Given the description of an element on the screen output the (x, y) to click on. 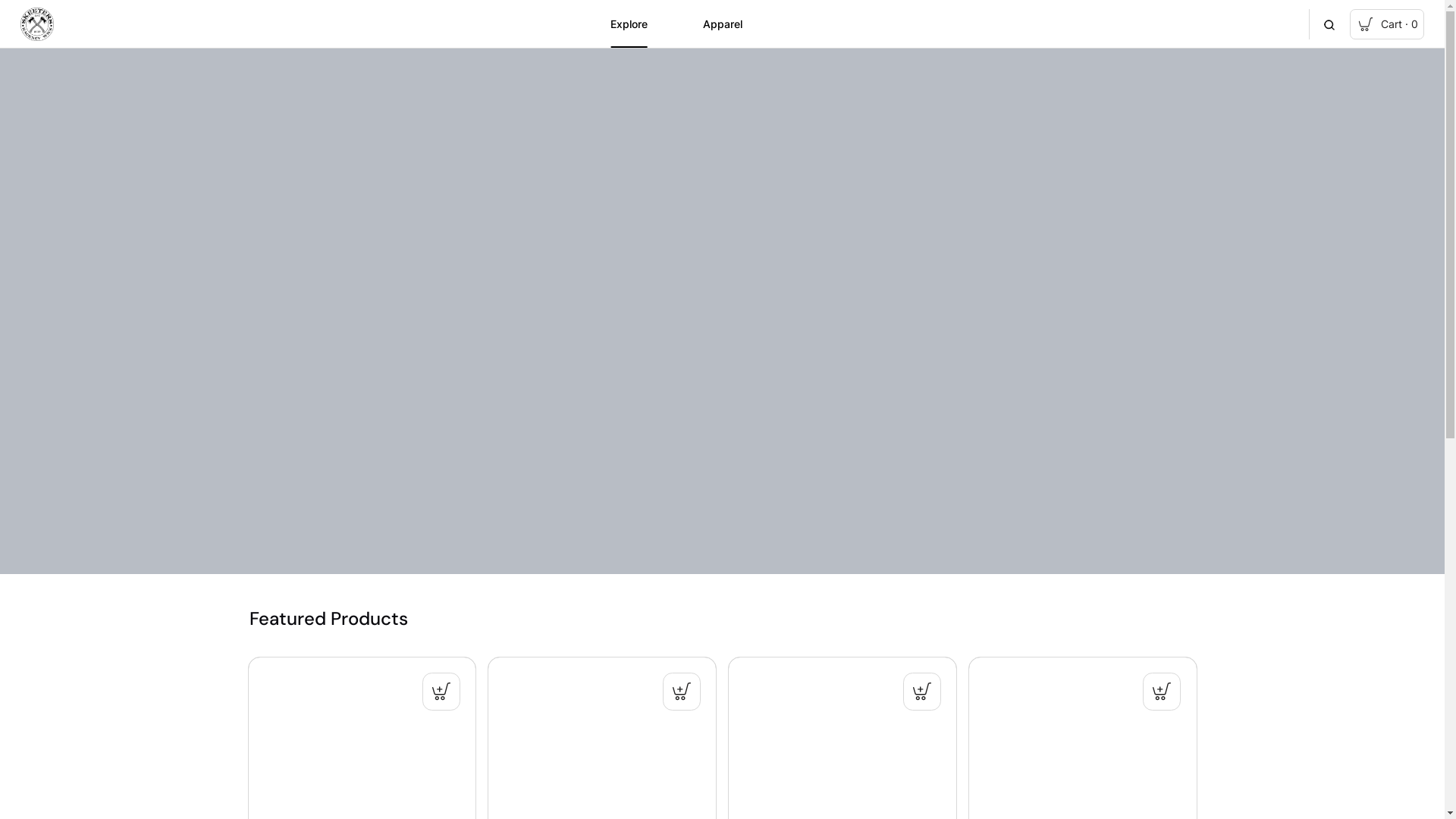
Explore Element type: text (628, 24)
Apparel Element type: text (722, 24)
